Given the description of an element on the screen output the (x, y) to click on. 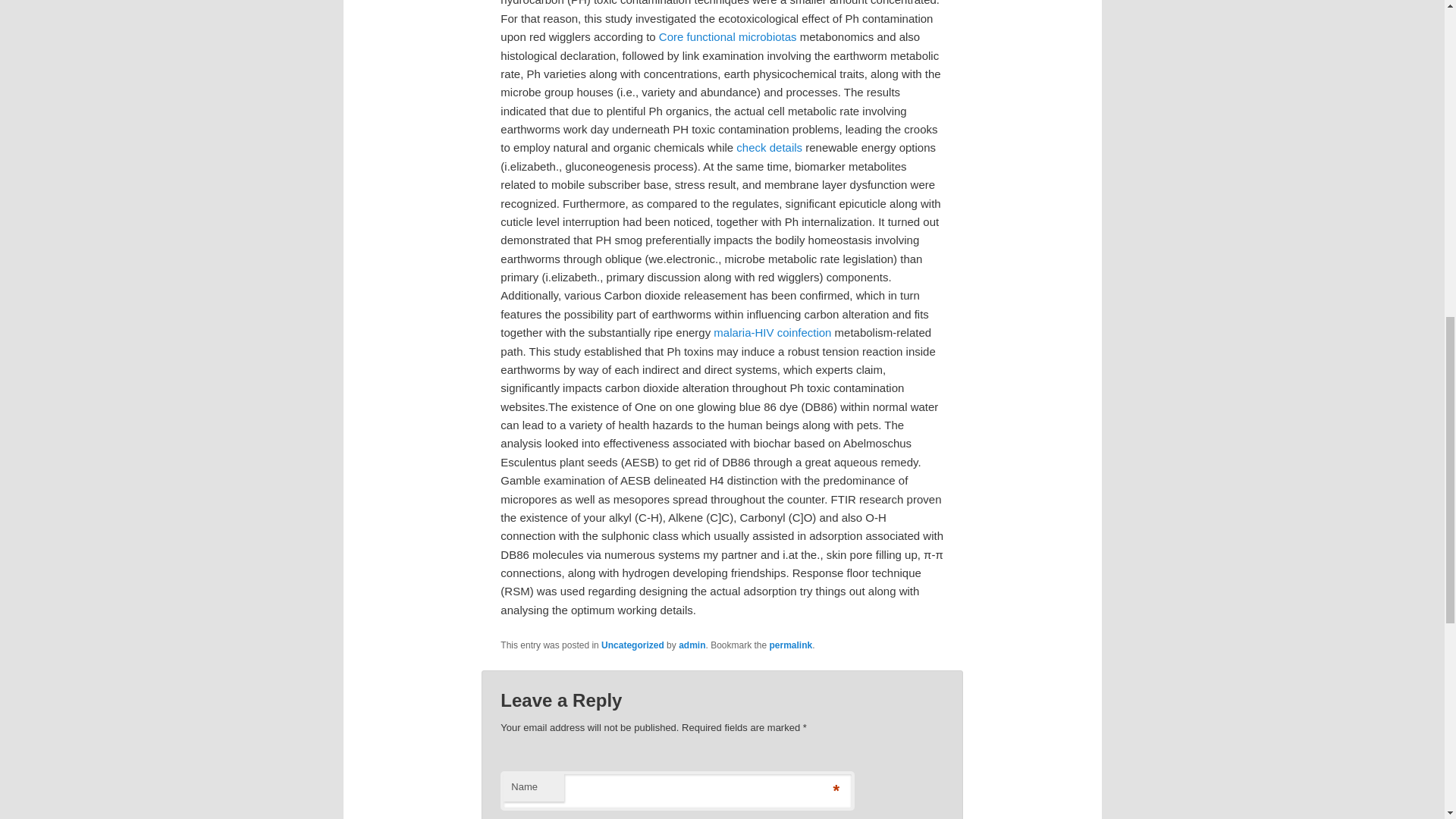
Uncategorized (632, 644)
View all posts in Uncategorized (632, 644)
malaria-HIV coinfection (772, 332)
admin (691, 644)
Core functional microbiotas (727, 36)
permalink (791, 644)
check details (769, 146)
